Given the description of an element on the screen output the (x, y) to click on. 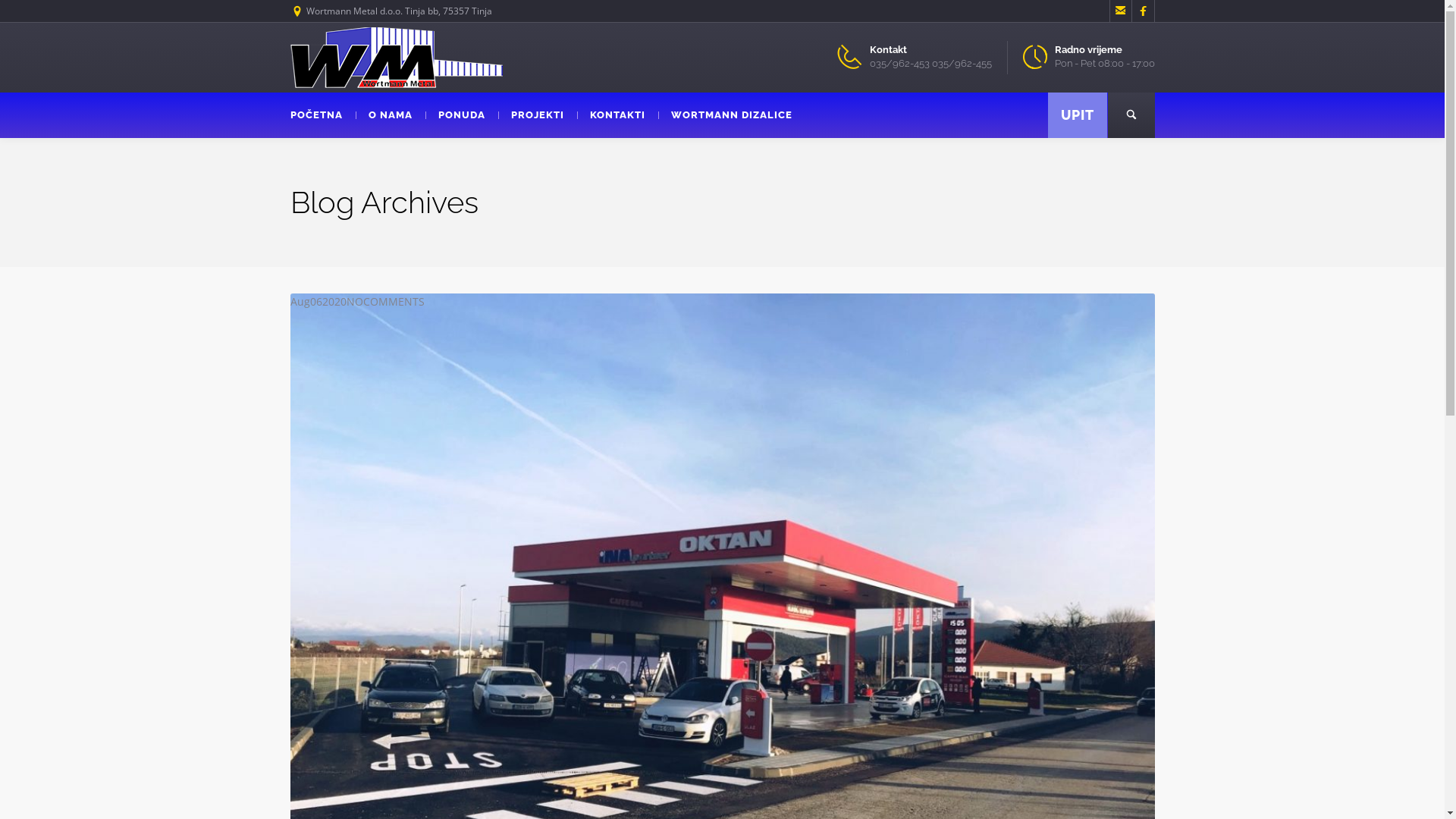
O NAMA Element type: text (389, 115)
  Element type: text (1130, 115)
UPIT Element type: text (1077, 115)
PONUDA Element type: text (460, 115)
PROJEKTI Element type: text (536, 115)
KONTAKTI Element type: text (616, 115)
WORTMANN DIZALICE Element type: text (731, 115)
